Given the description of an element on the screen output the (x, y) to click on. 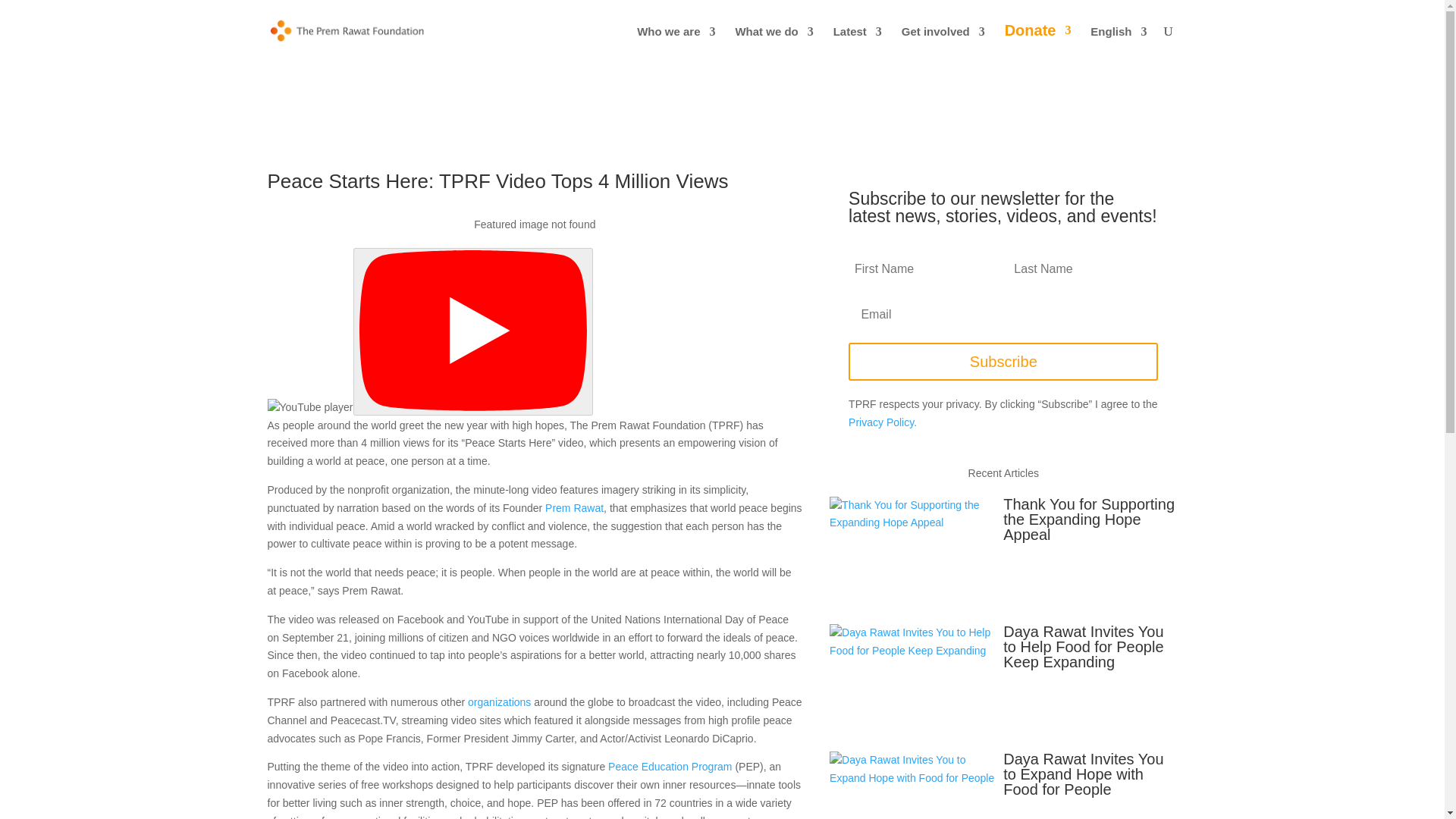
Who we are (675, 44)
English (1118, 44)
organizations (499, 702)
English (1118, 44)
Prem Rawat (574, 508)
organizations (499, 702)
Peace Education Program (670, 766)
Latest (857, 44)
What we do (773, 44)
Get involved (943, 44)
